Given the description of an element on the screen output the (x, y) to click on. 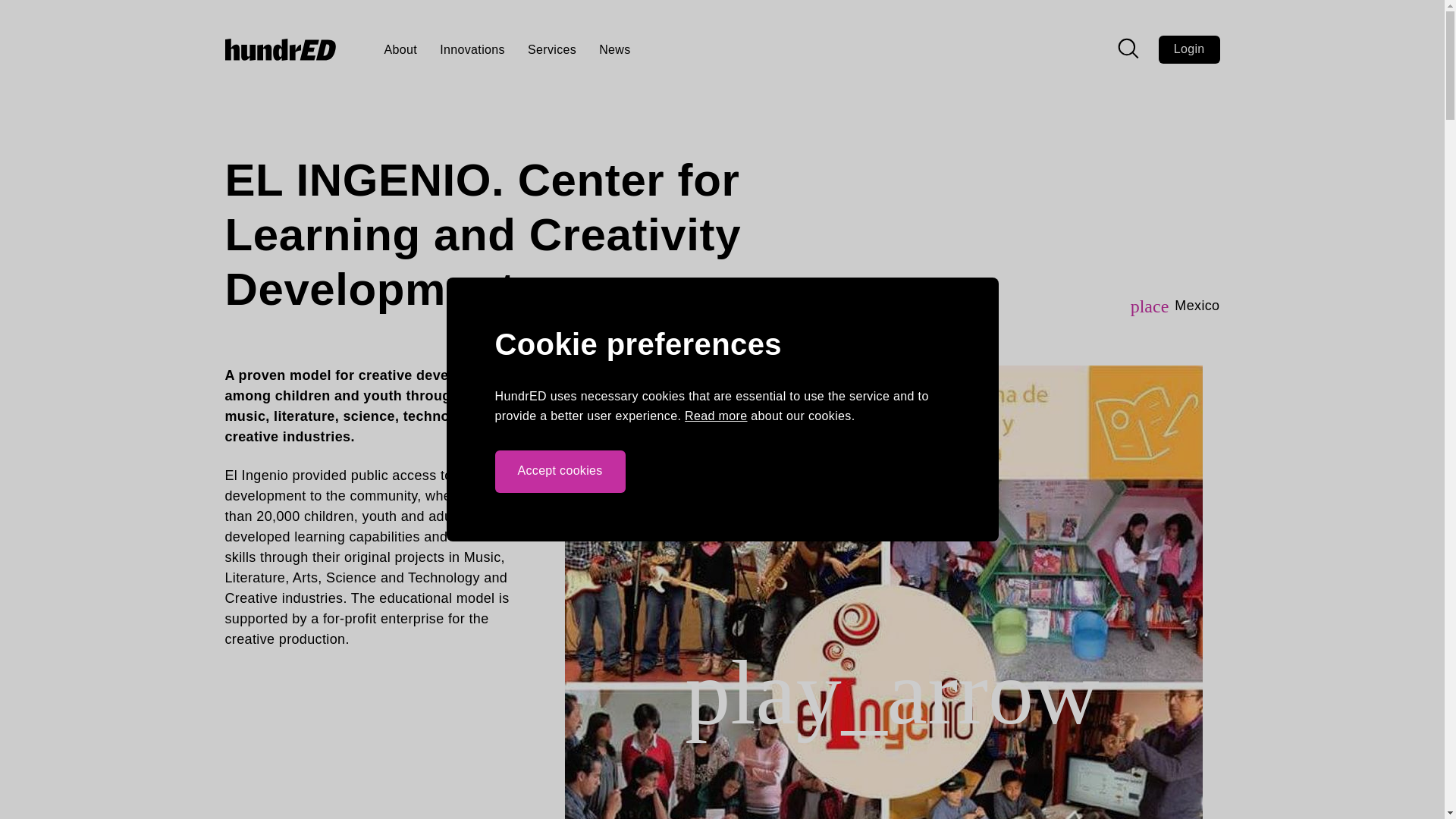
Read more (715, 415)
Login (1189, 49)
